Given the description of an element on the screen output the (x, y) to click on. 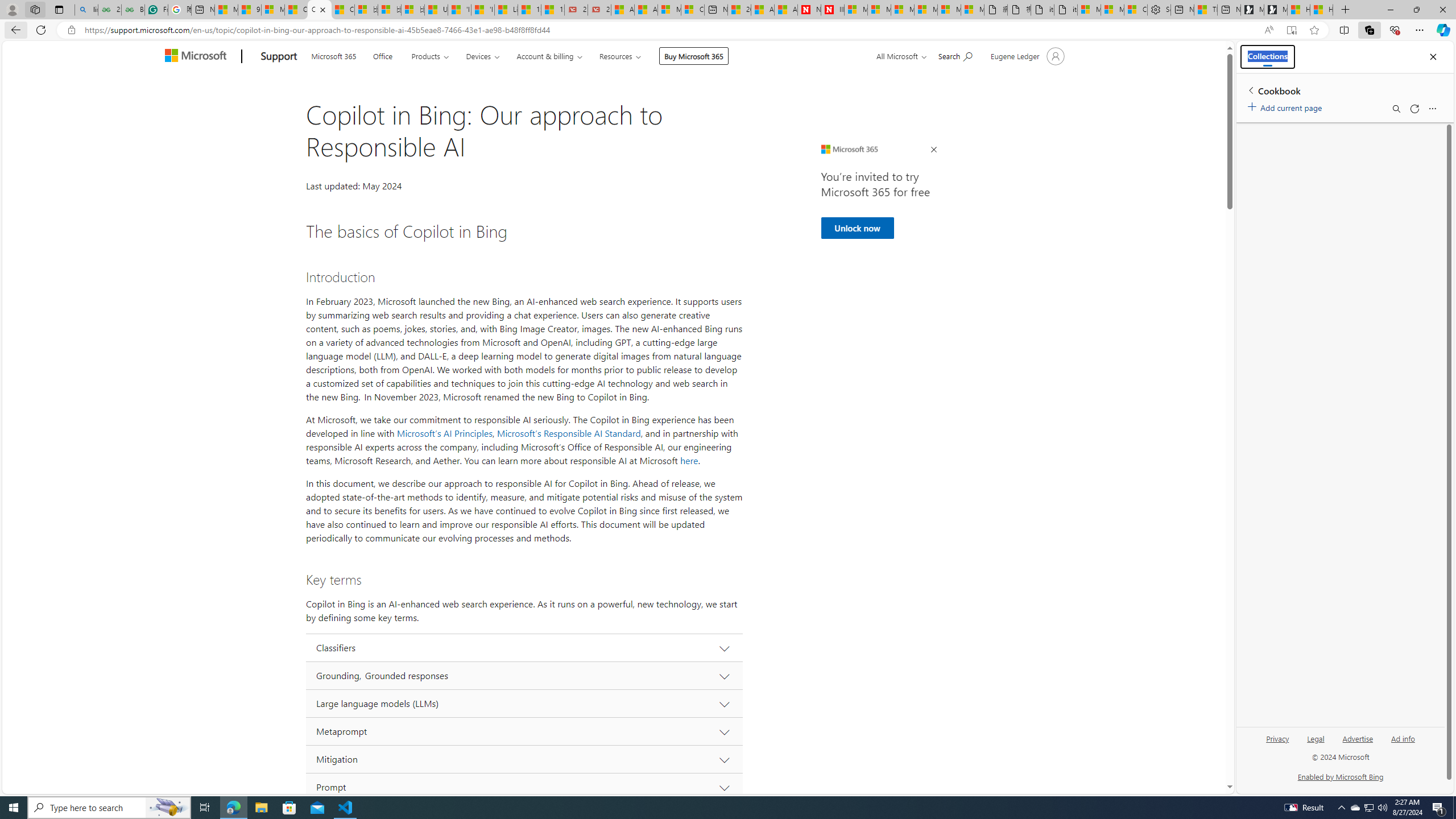
Support (278, 56)
Back to list of collections (1250, 90)
Search for help (954, 54)
